Given the description of an element on the screen output the (x, y) to click on. 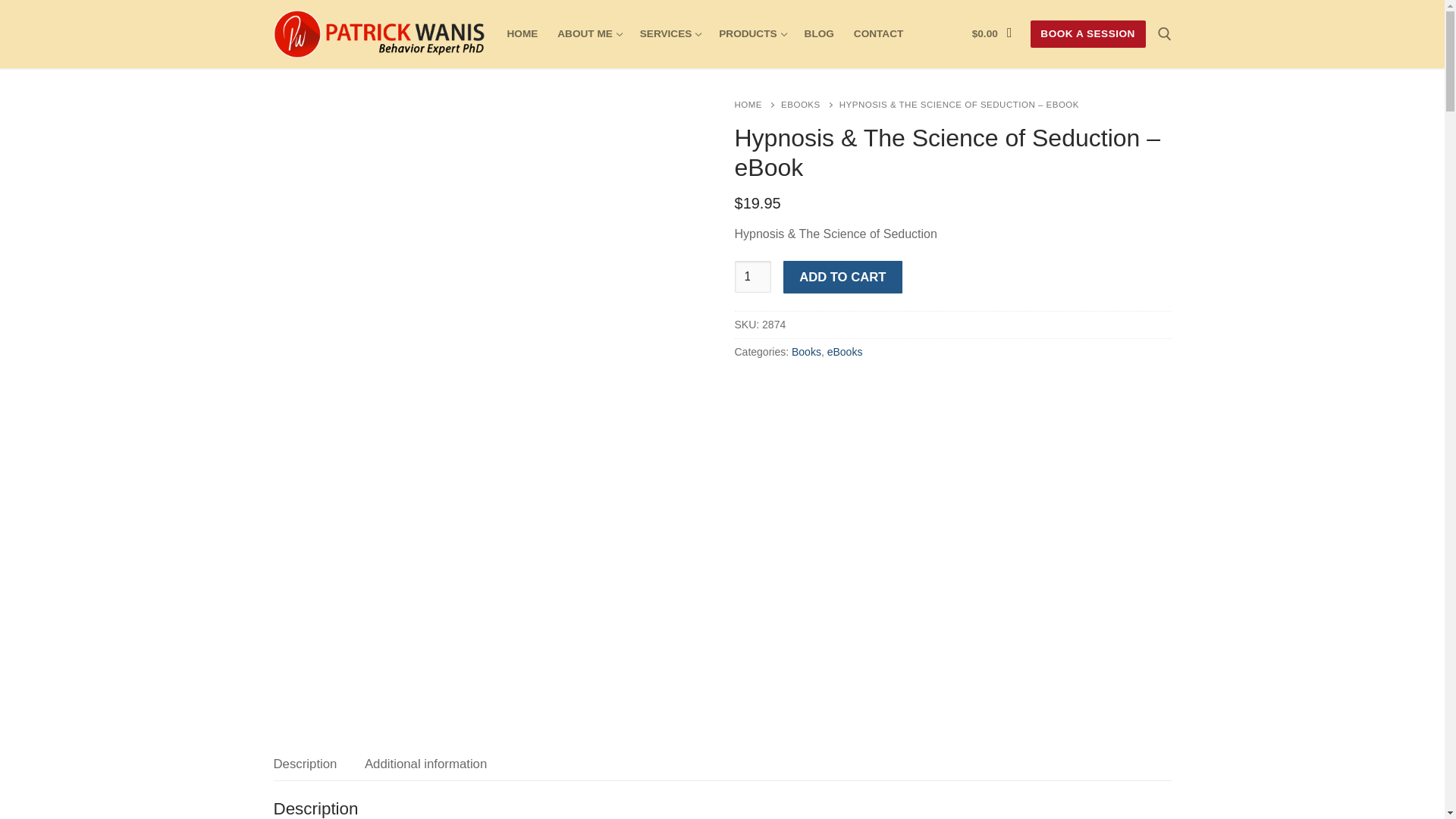
CONTACT (751, 33)
BLOG (878, 33)
HOME (819, 33)
1 (522, 33)
BOOK A SESSION (751, 276)
